Given the description of an element on the screen output the (x, y) to click on. 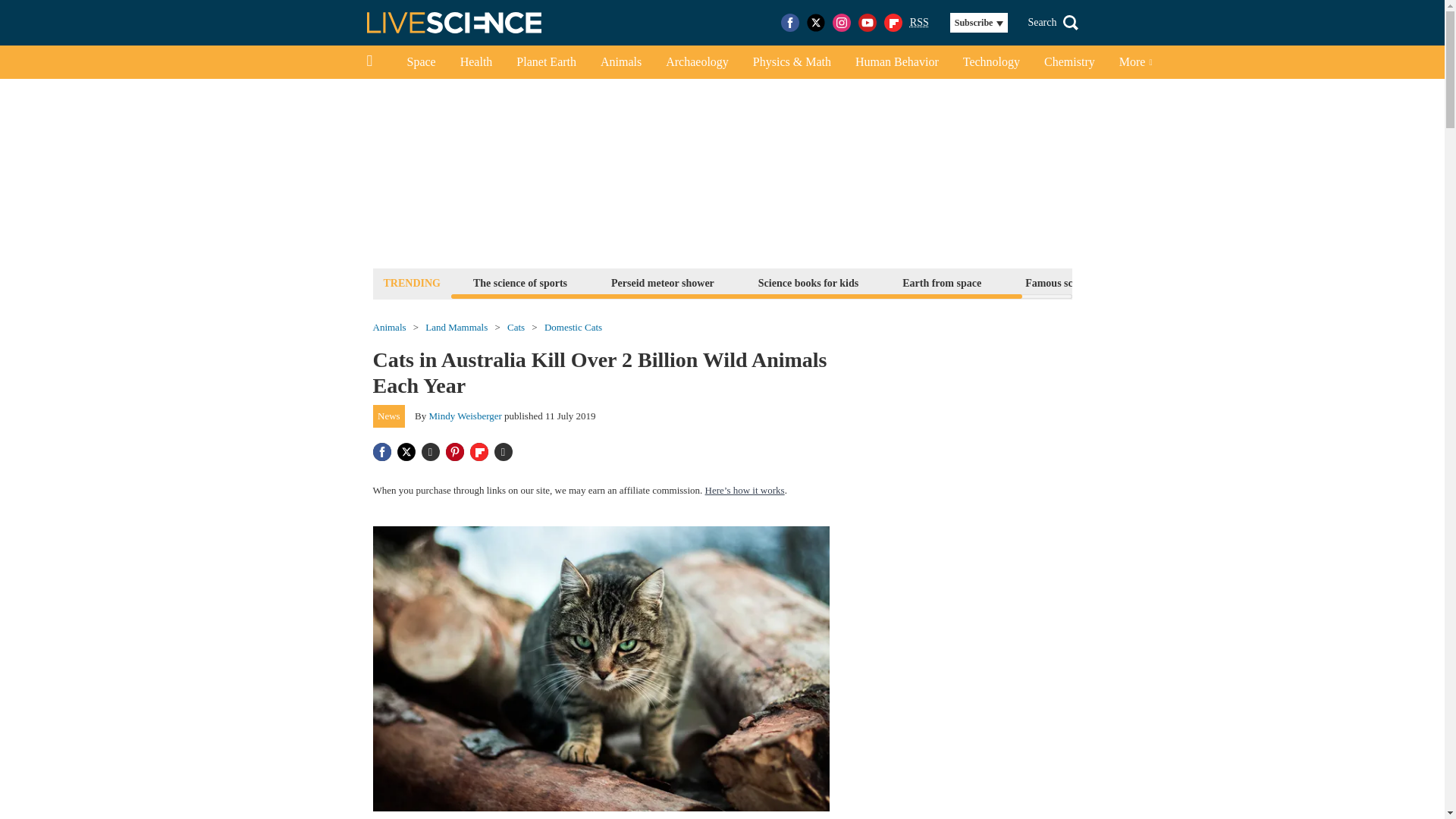
Land Mammals (456, 327)
Science books for kids (807, 282)
News (389, 415)
Space (420, 61)
Domestic Cats (573, 327)
Famous scientists (1064, 282)
Chemistry (1069, 61)
Human Behavior (896, 61)
Animals (389, 327)
Health (476, 61)
